Given the description of an element on the screen output the (x, y) to click on. 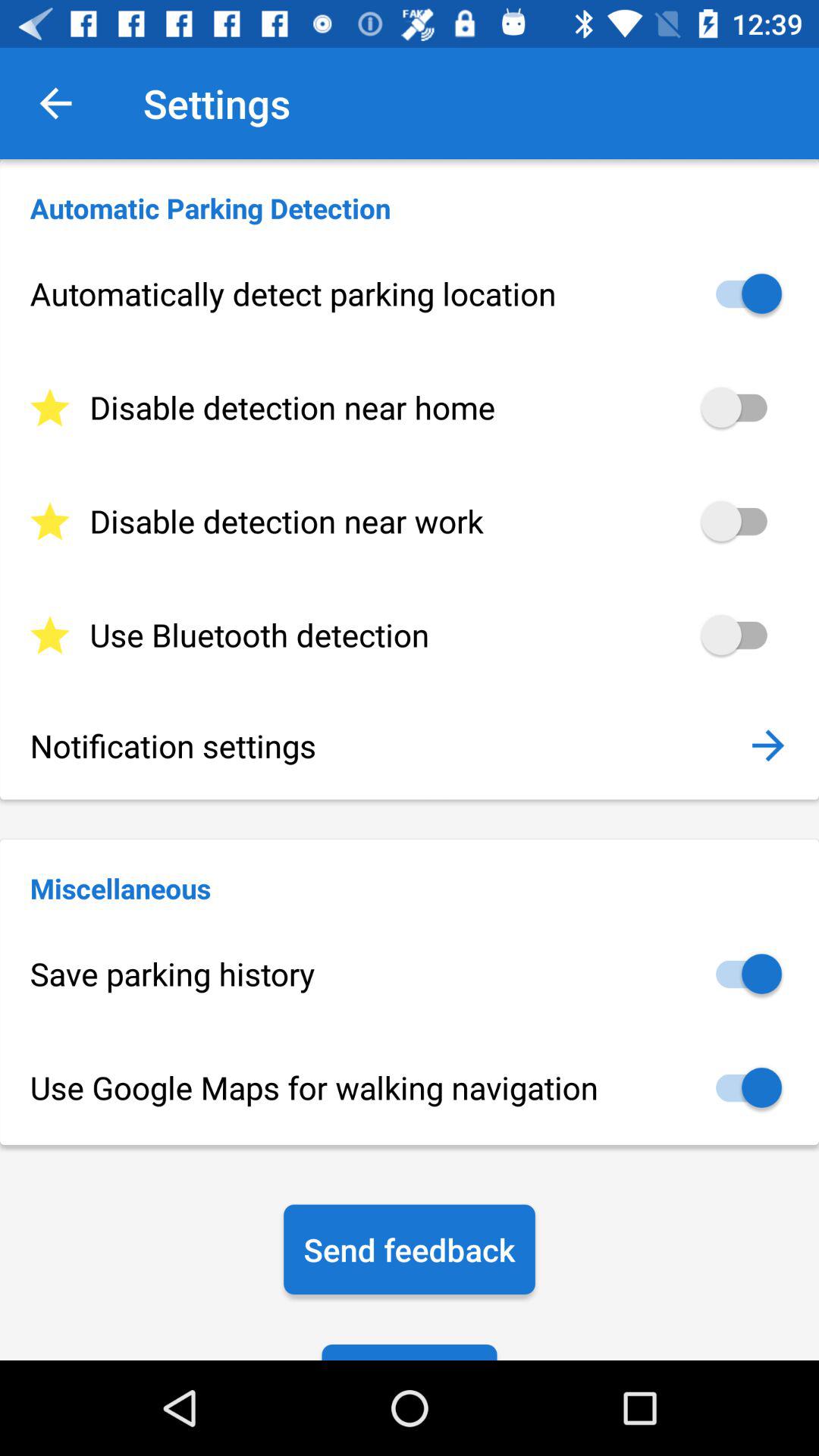
press the icon on the right (767, 745)
